Given the description of an element on the screen output the (x, y) to click on. 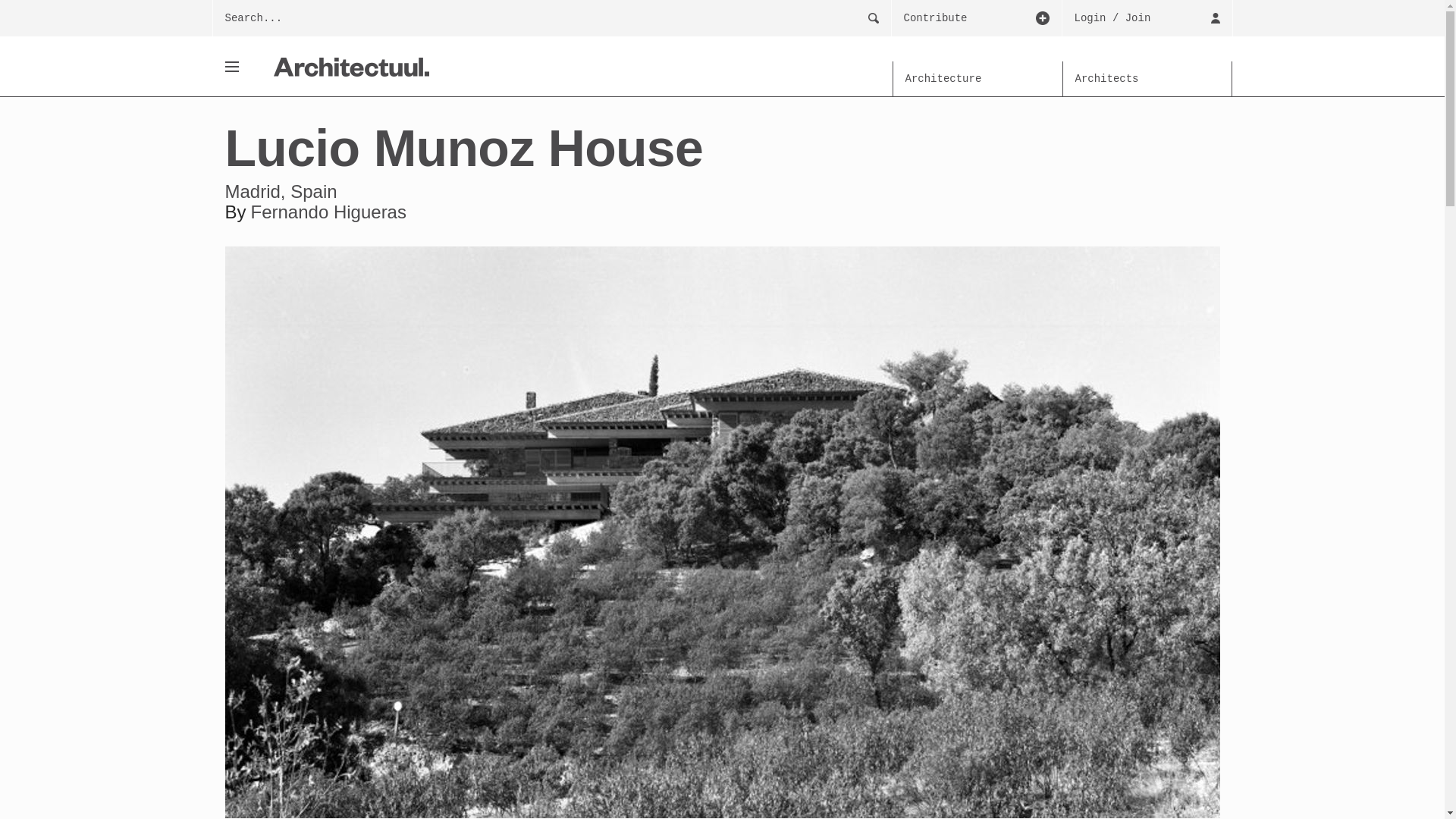
Architectuul (350, 66)
Fernando Higueras (328, 211)
